Given the description of an element on the screen output the (x, y) to click on. 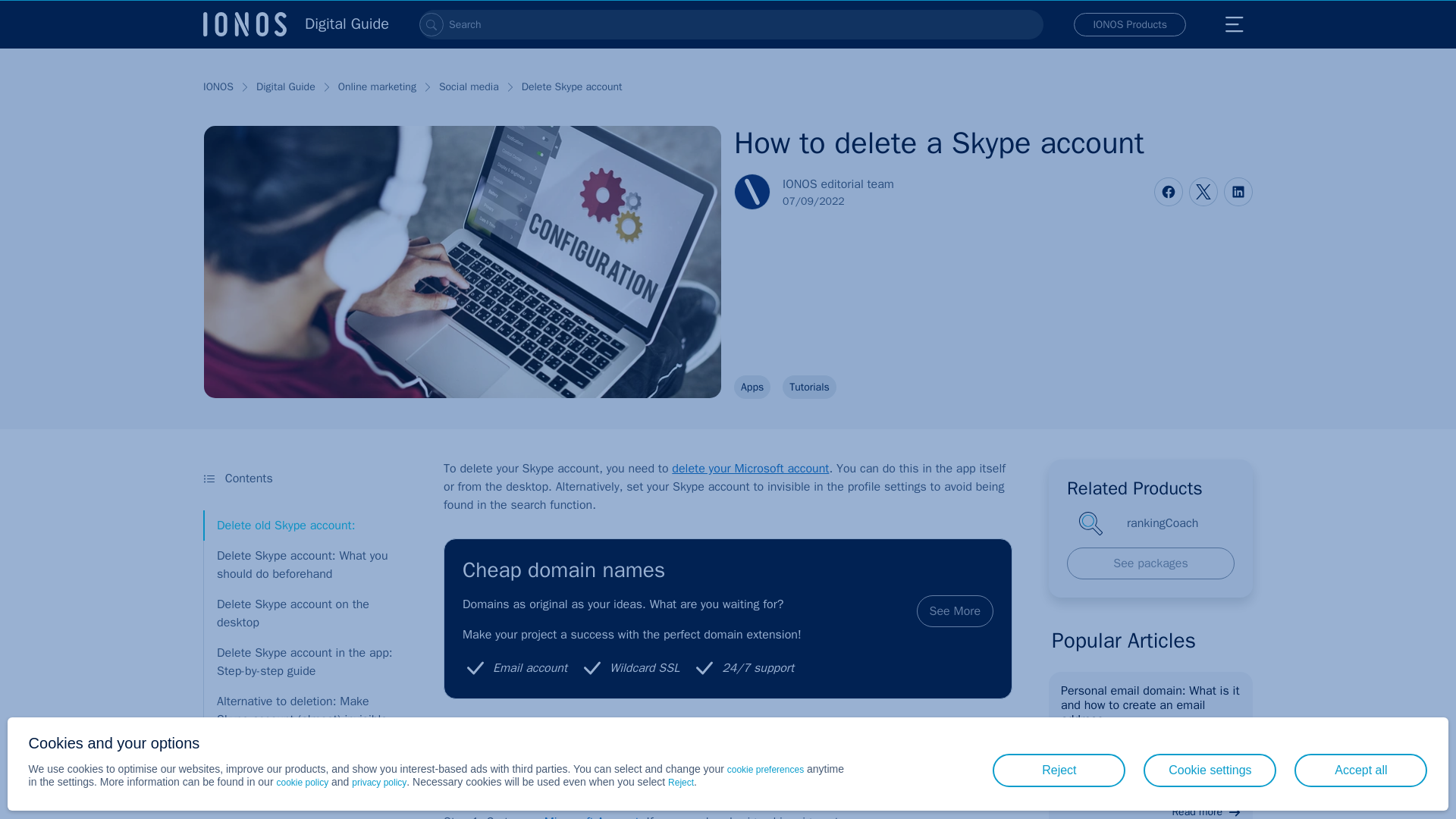
Search (431, 24)
Digital Guide (295, 23)
IONOS Products (1130, 24)
Digital Guide (295, 23)
